Given the description of an element on the screen output the (x, y) to click on. 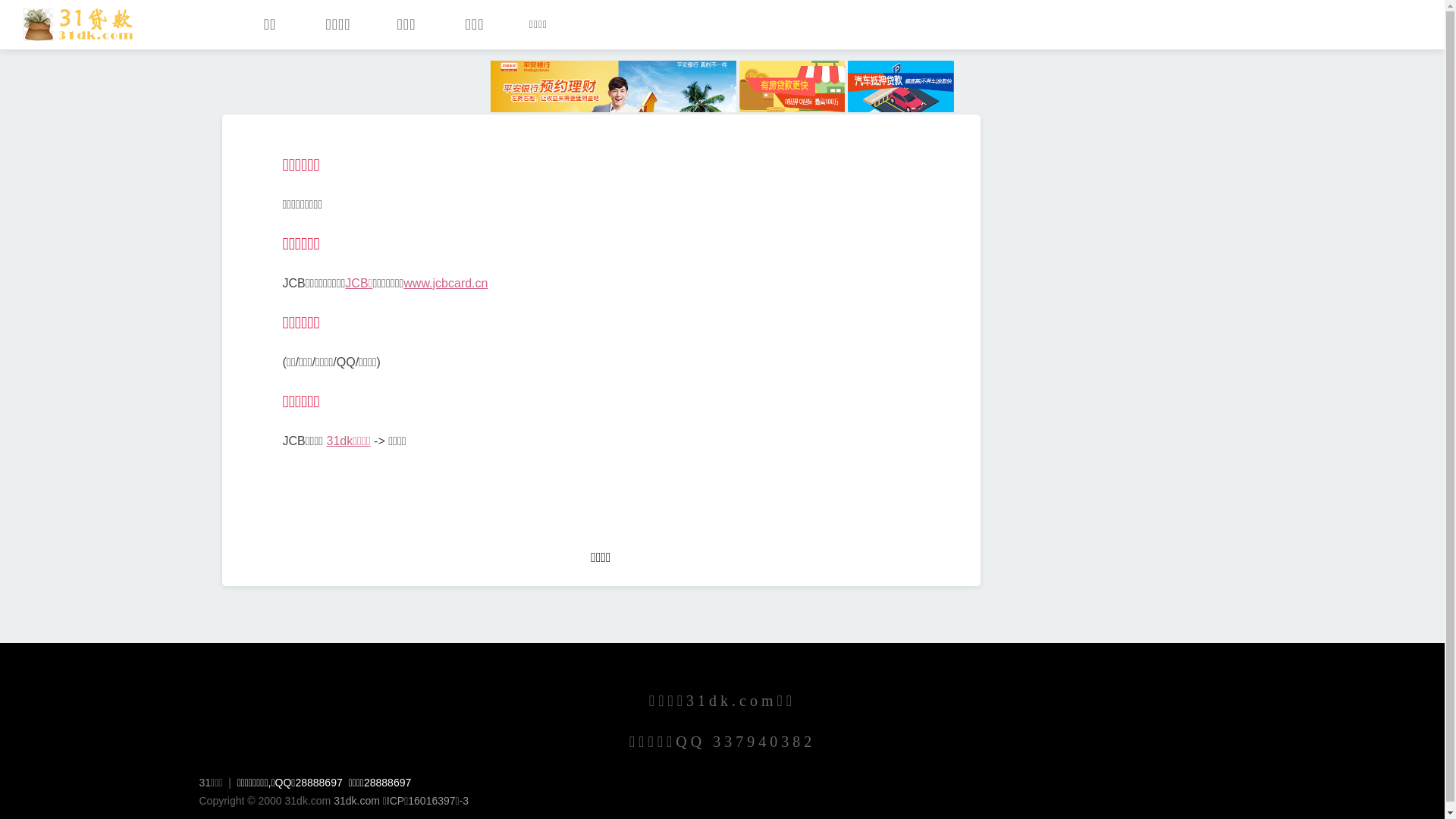
www.jcbcard.cn Element type: text (445, 282)
31dk.com Element type: hover (78, 23)
31dk.com Element type: text (356, 800)
